Given the description of an element on the screen output the (x, y) to click on. 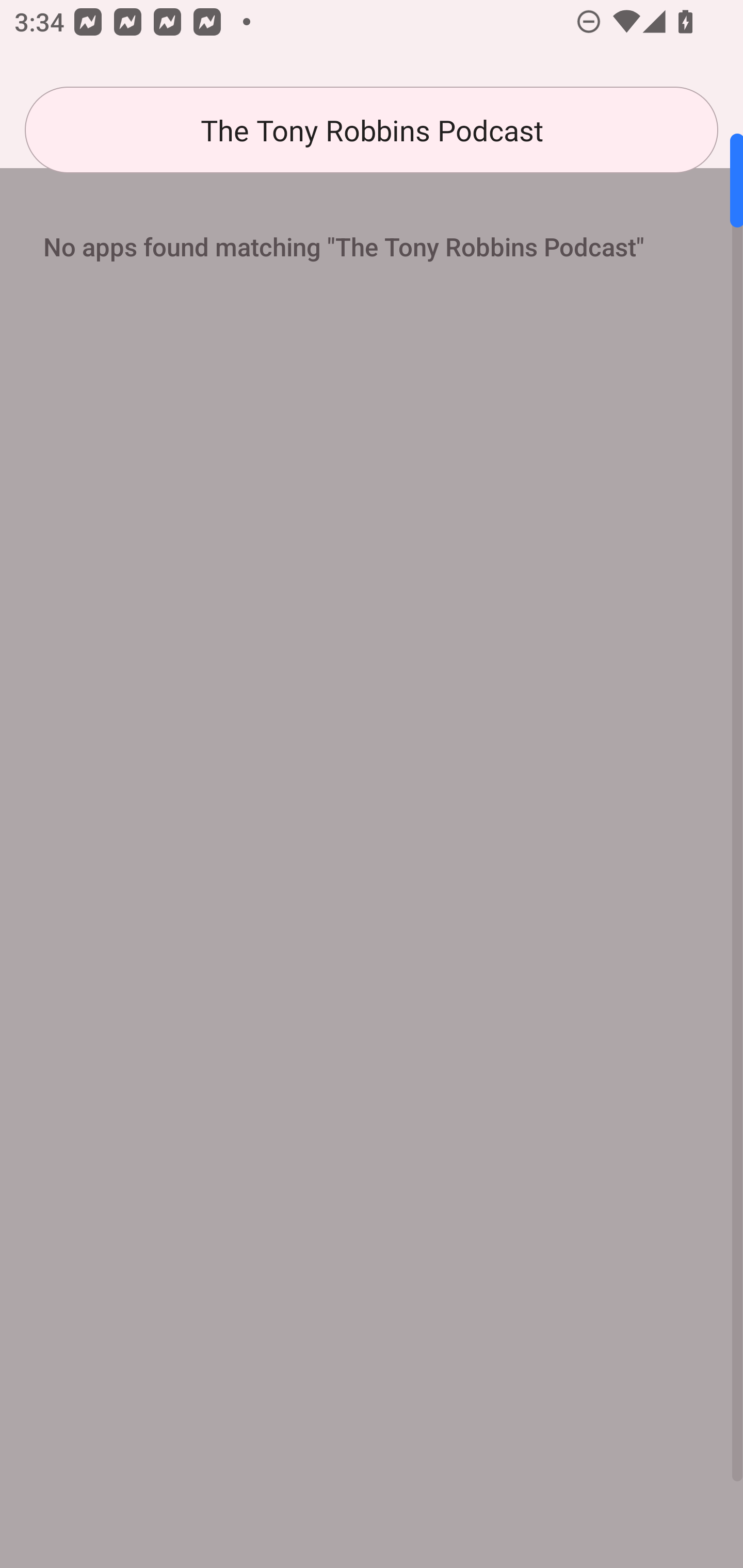
The Tony Robbins Podcast (371, 130)
